Given the description of an element on the screen output the (x, y) to click on. 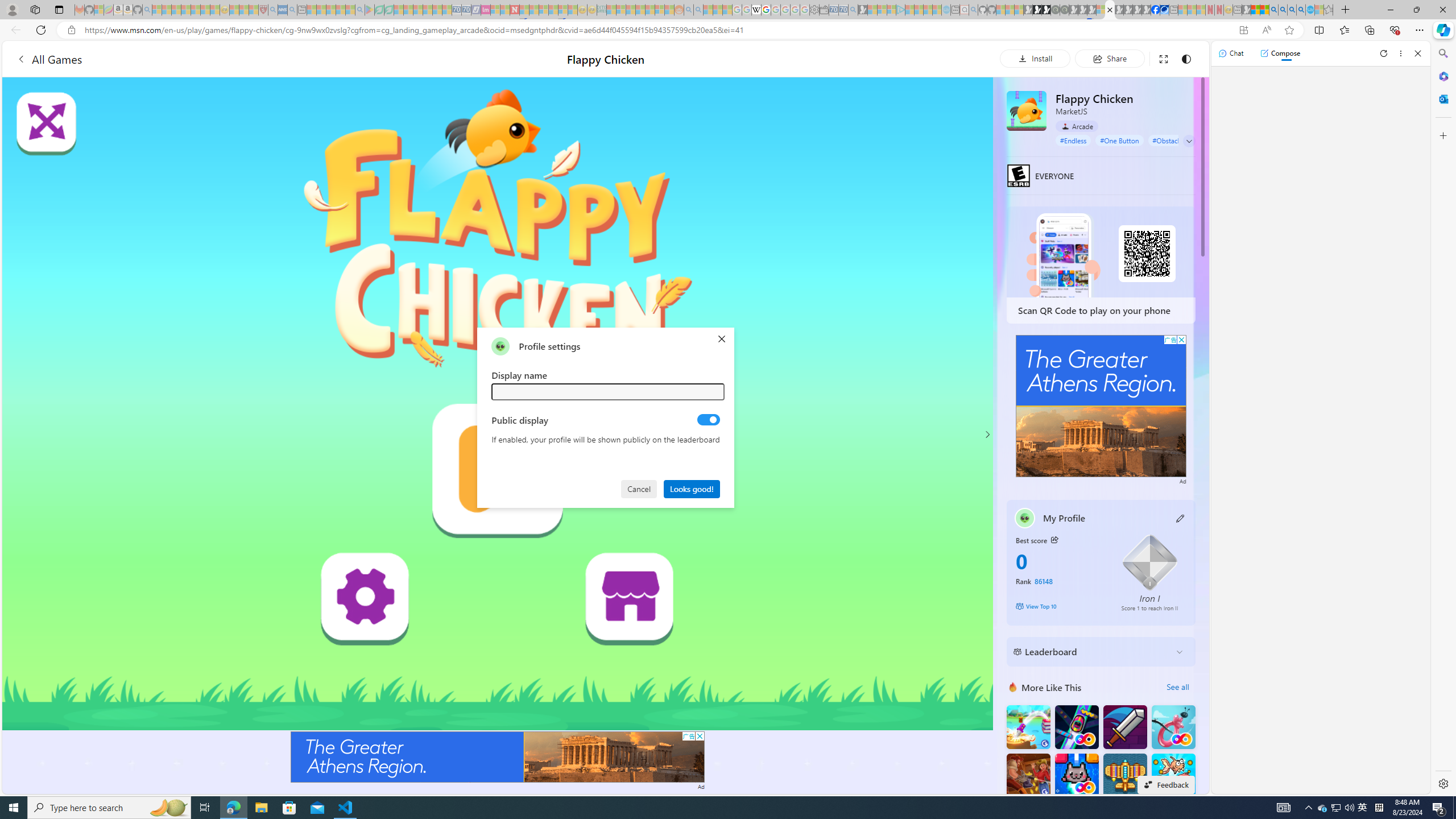
Flappy Chicken (1026, 110)
